Given the description of an element on the screen output the (x, y) to click on. 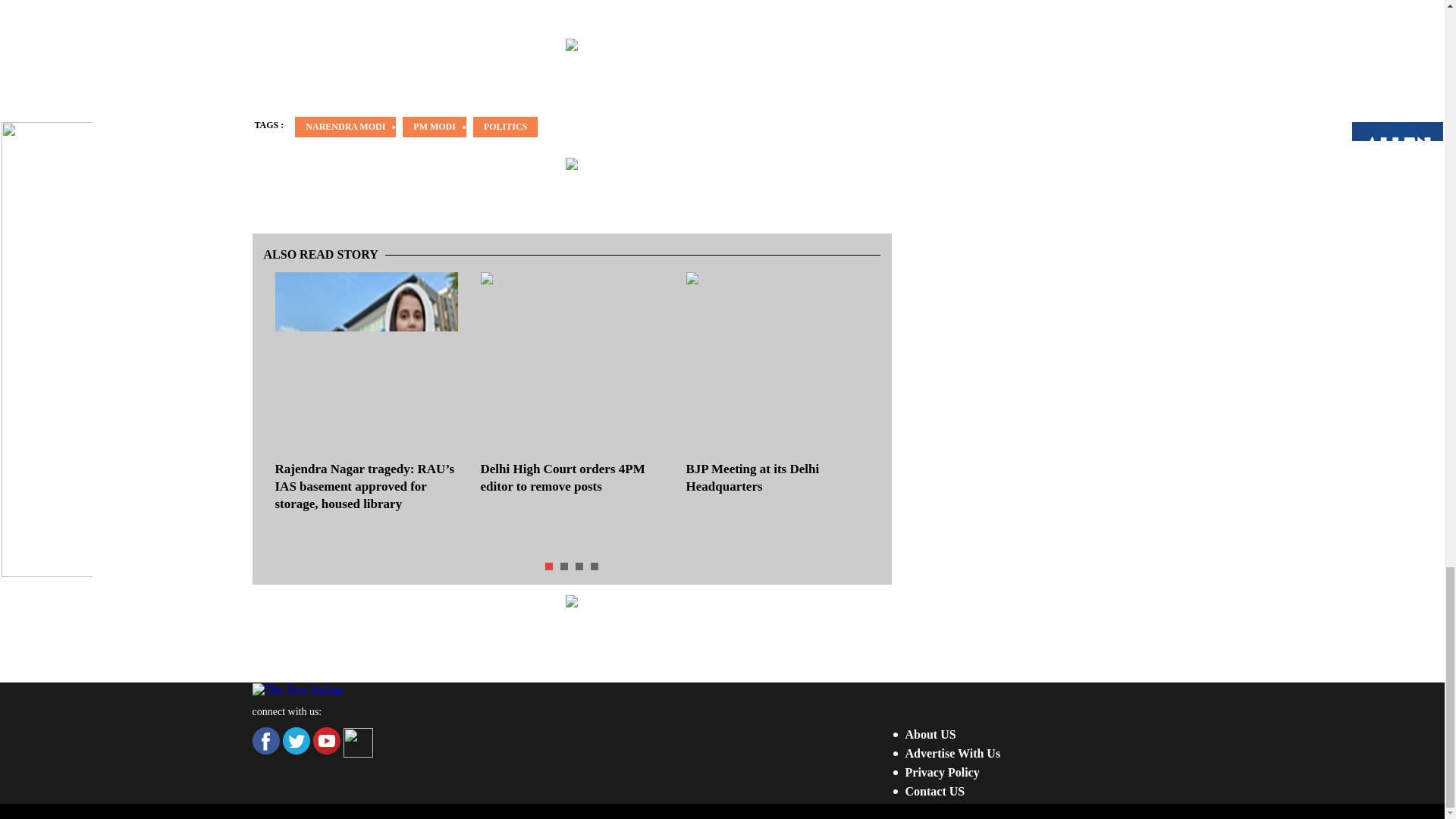
The New Indian (296, 688)
The New Indian (296, 689)
